Given the description of an element on the screen output the (x, y) to click on. 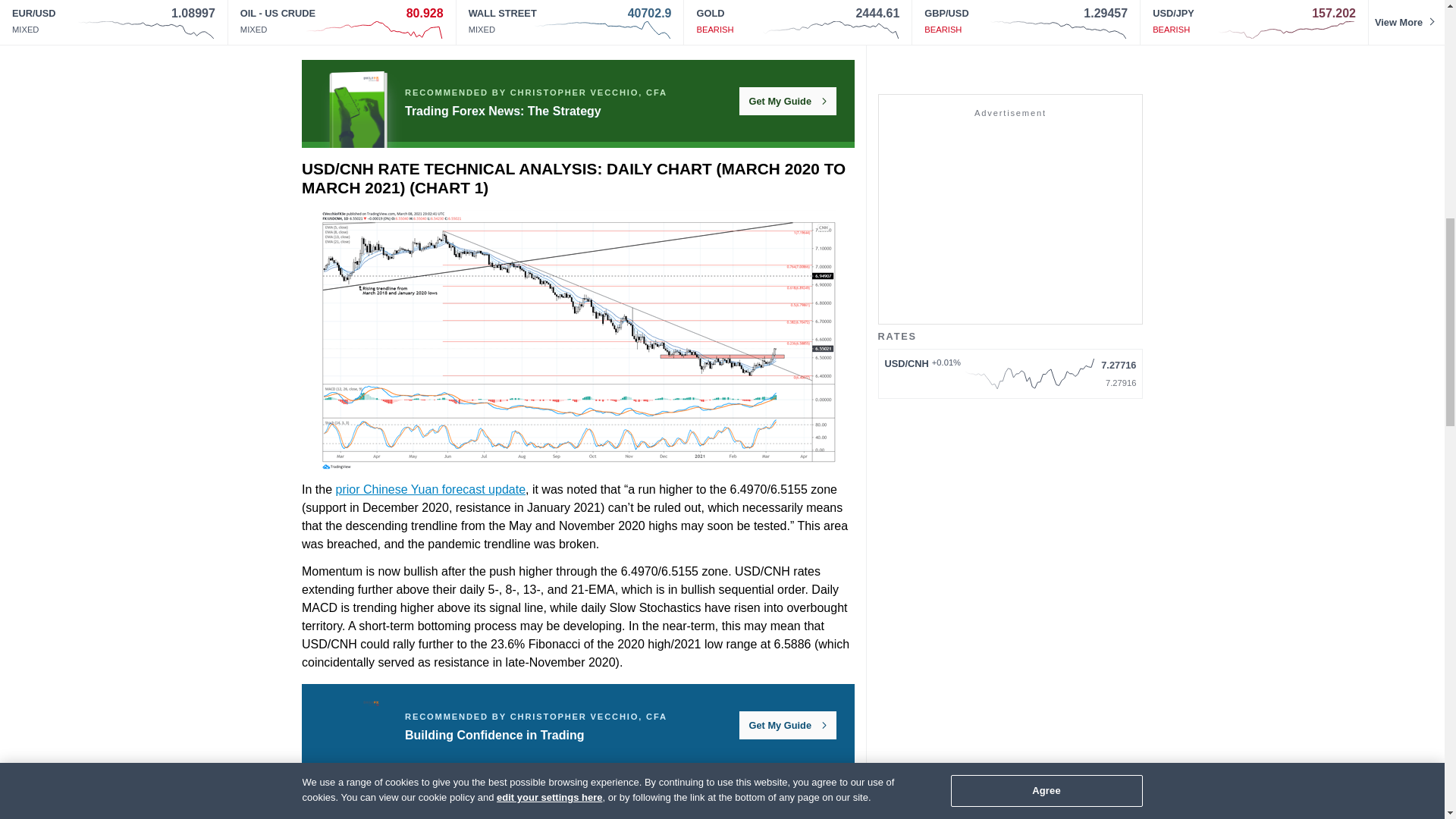
growth (779, 19)
USD (435, 37)
